Given the description of an element on the screen output the (x, y) to click on. 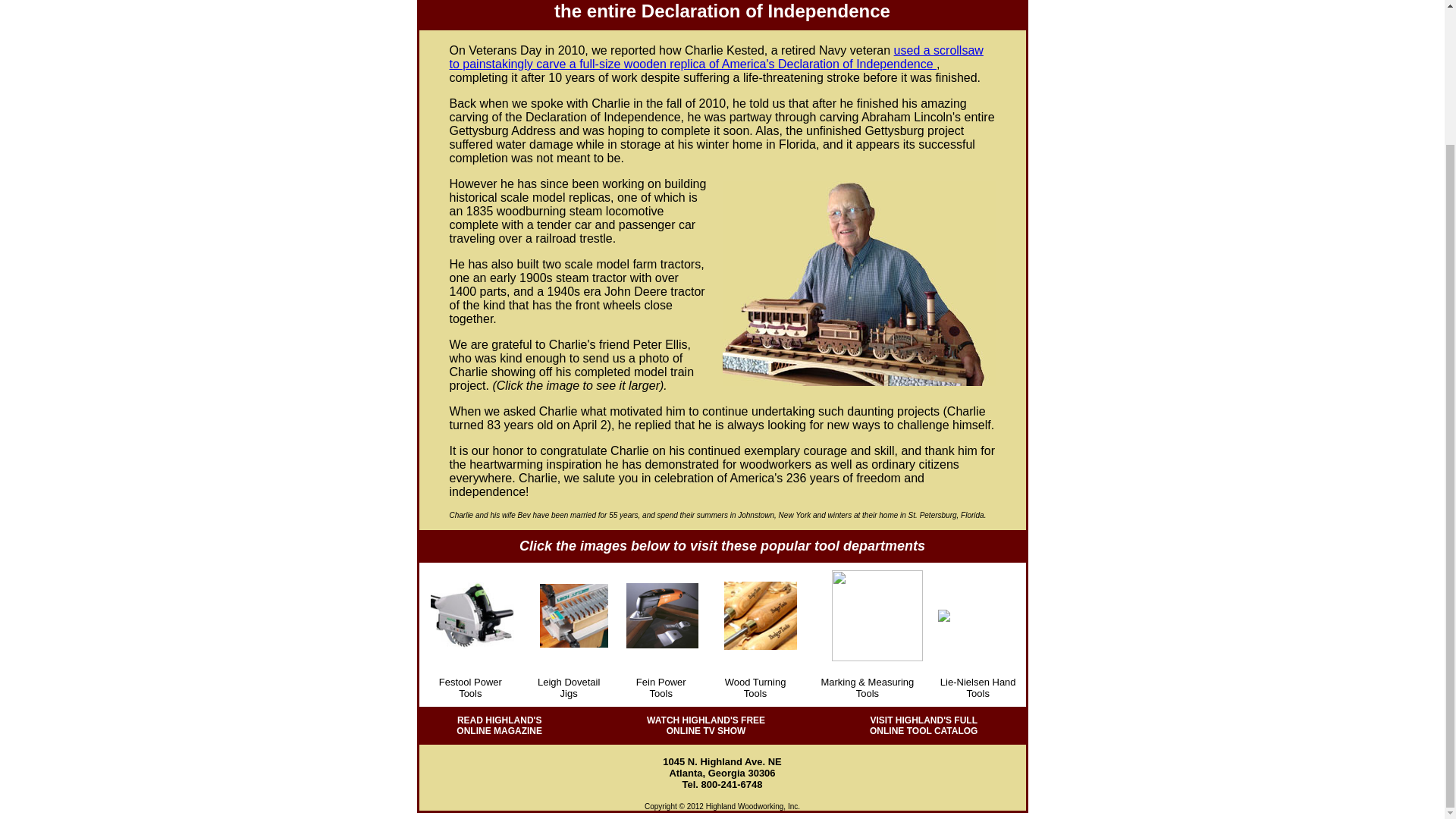
Navy Veteran Carves Declaration of Independence (715, 57)
